Given the description of an element on the screen output the (x, y) to click on. 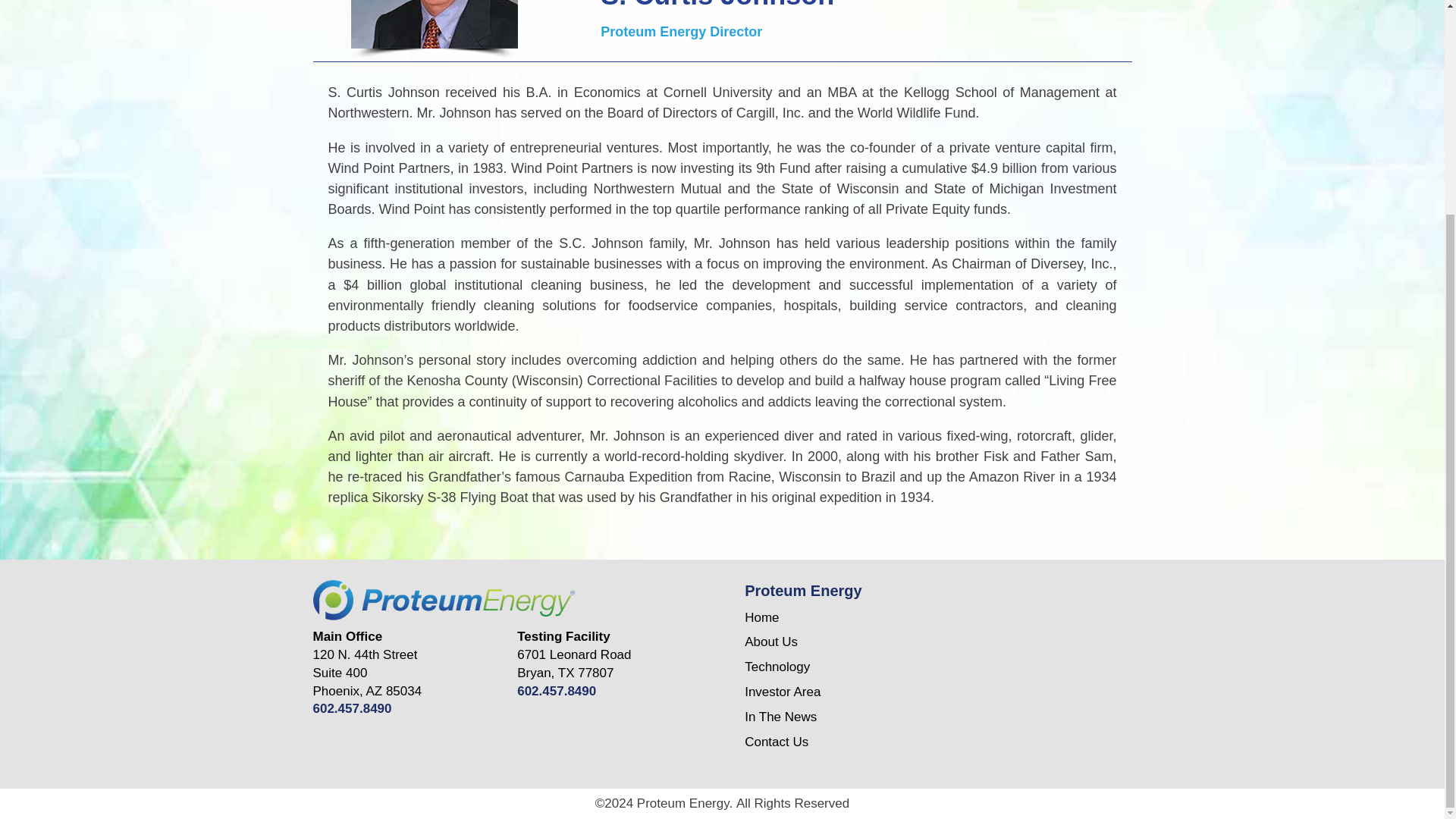
avatar-shadow (776, 667)
Dean Hoaglan (434, 54)
Contact Us (434, 24)
In The News (776, 741)
Home (780, 716)
Logo Proteum Energy (761, 617)
602.457.8490 (444, 599)
602.457.8490 (352, 708)
Investor Area (555, 690)
